Given the description of an element on the screen output the (x, y) to click on. 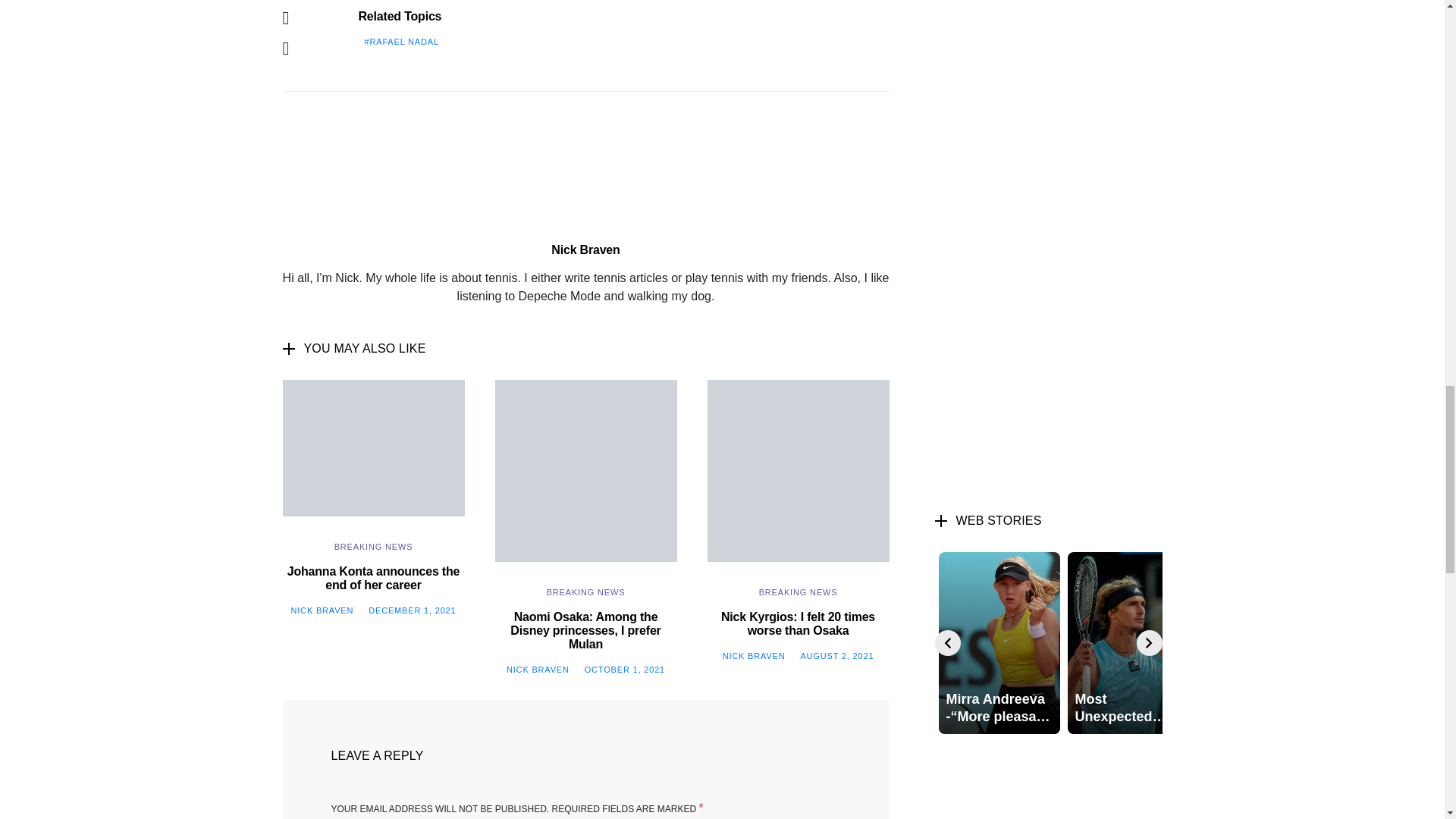
View all posts by Nick Braven (754, 655)
View all posts by Nick Braven (321, 610)
View all posts by Nick Braven (537, 669)
